Given the description of an element on the screen output the (x, y) to click on. 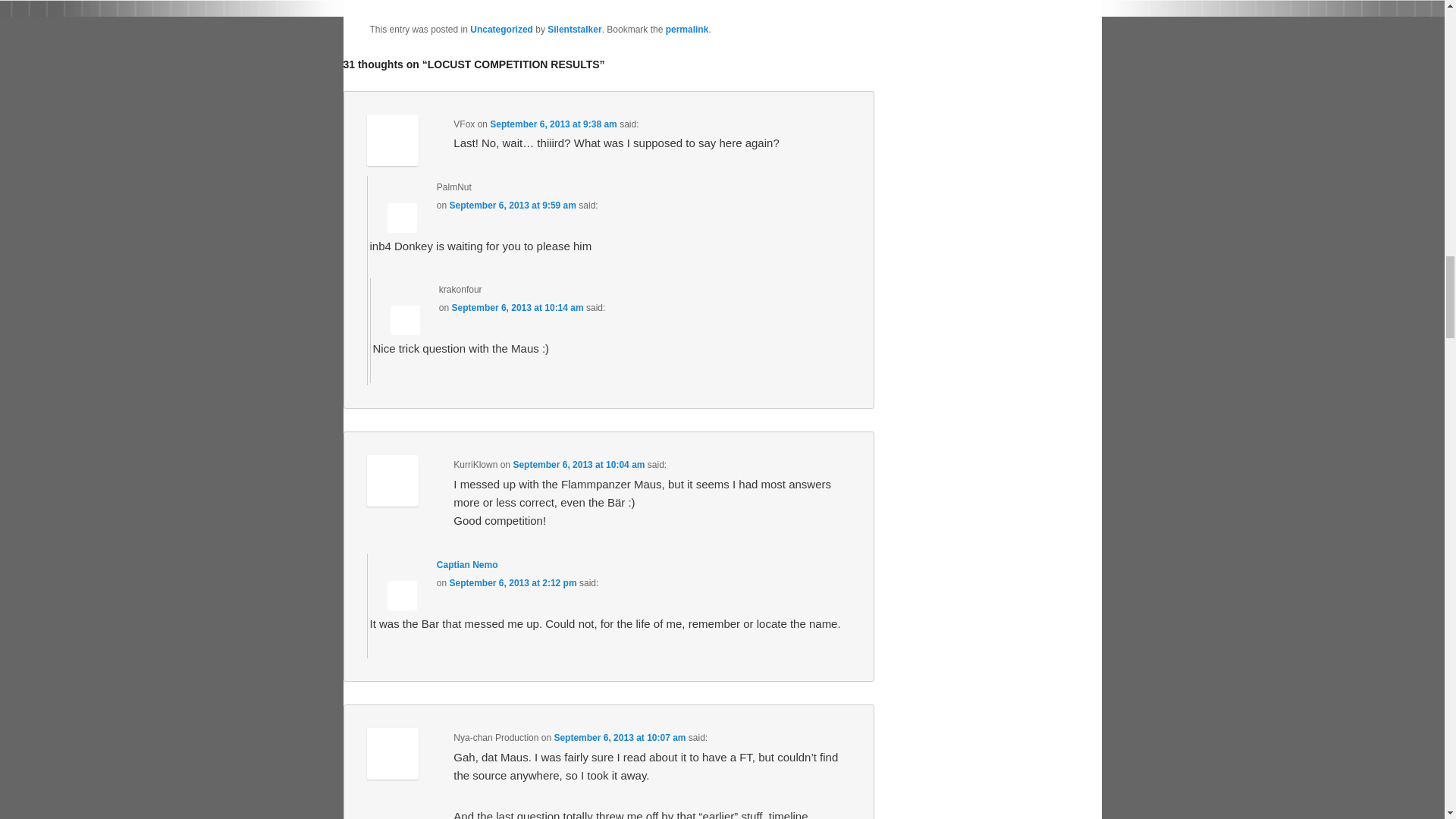
Captian Nemo (466, 564)
Uncategorized (501, 29)
View all posts in Uncategorized (501, 29)
Permalink to Locust competition results (687, 29)
September 6, 2013 at 10:04 am (578, 464)
Silentstalker (574, 29)
September 6, 2013 at 9:38 am (552, 123)
September 6, 2013 at 10:14 am (517, 307)
permalink (687, 29)
September 6, 2013 at 2:12 pm (512, 583)
September 6, 2013 at 9:59 am (512, 204)
September 6, 2013 at 10:07 am (619, 737)
